Given the description of an element on the screen output the (x, y) to click on. 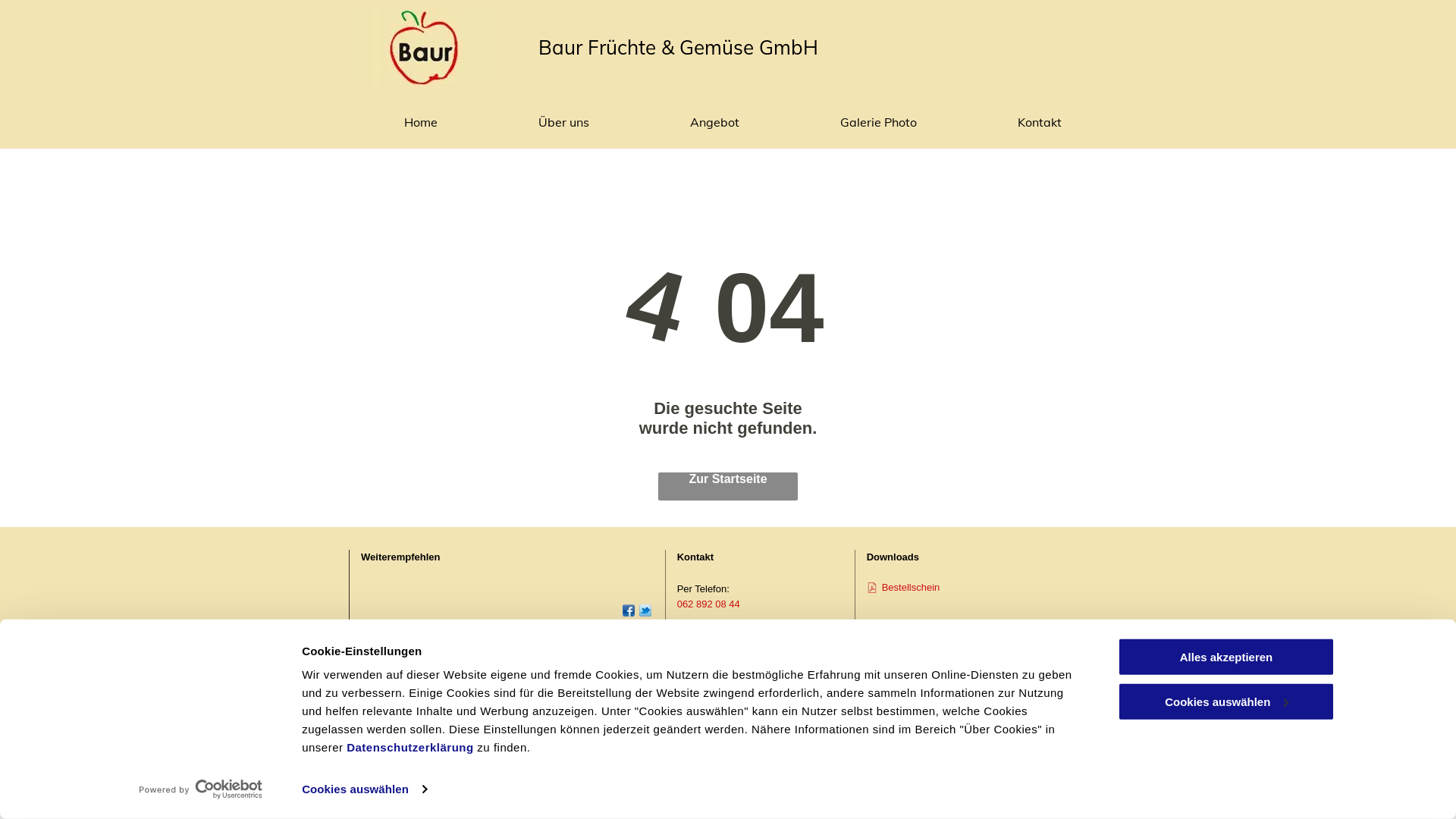
Galerie Photo Element type: text (873, 121)
Kontakt Element type: text (1034, 121)
Zur Startseite Element type: text (727, 486)
Bestellschein Element type: text (910, 587)
Impressum Element type: text (1071, 668)
Home Element type: text (415, 121)
fb:like Facebook Social Plugin Element type: hover (385, 595)
062 892 08 44 Element type: text (708, 603)
Angebot Element type: text (709, 121)
Alles akzeptieren Element type: text (1225, 656)
